Given the description of an element on the screen output the (x, y) to click on. 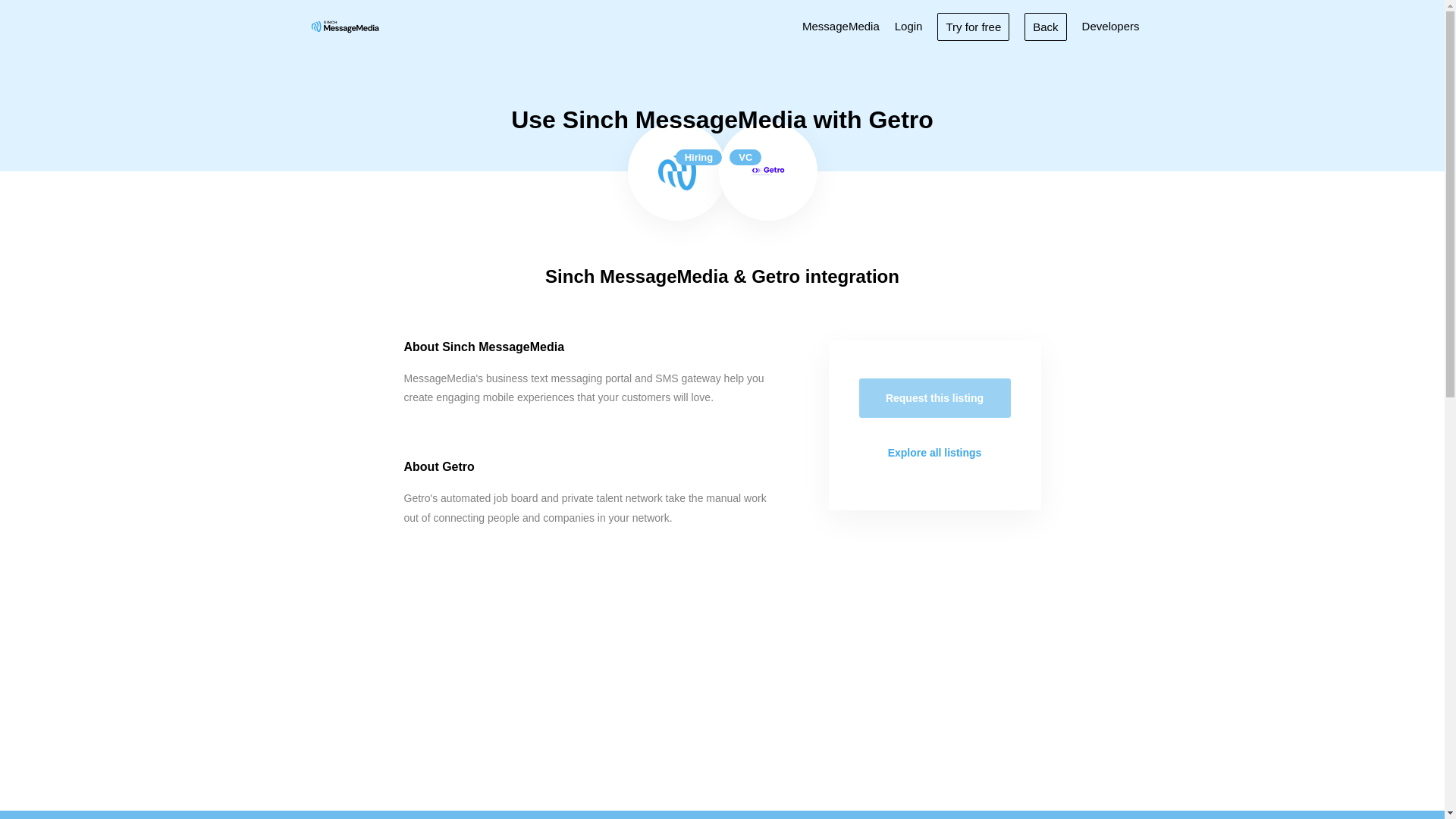
Request this listing (934, 397)
Sinch MessageMedia (344, 26)
Sinch MessageMedia (676, 171)
Back (1045, 26)
Developers (1110, 25)
Try for free (973, 26)
Explore all listings (934, 452)
Login (909, 25)
MessageMedia (840, 25)
Getro (768, 171)
